Given the description of an element on the screen output the (x, y) to click on. 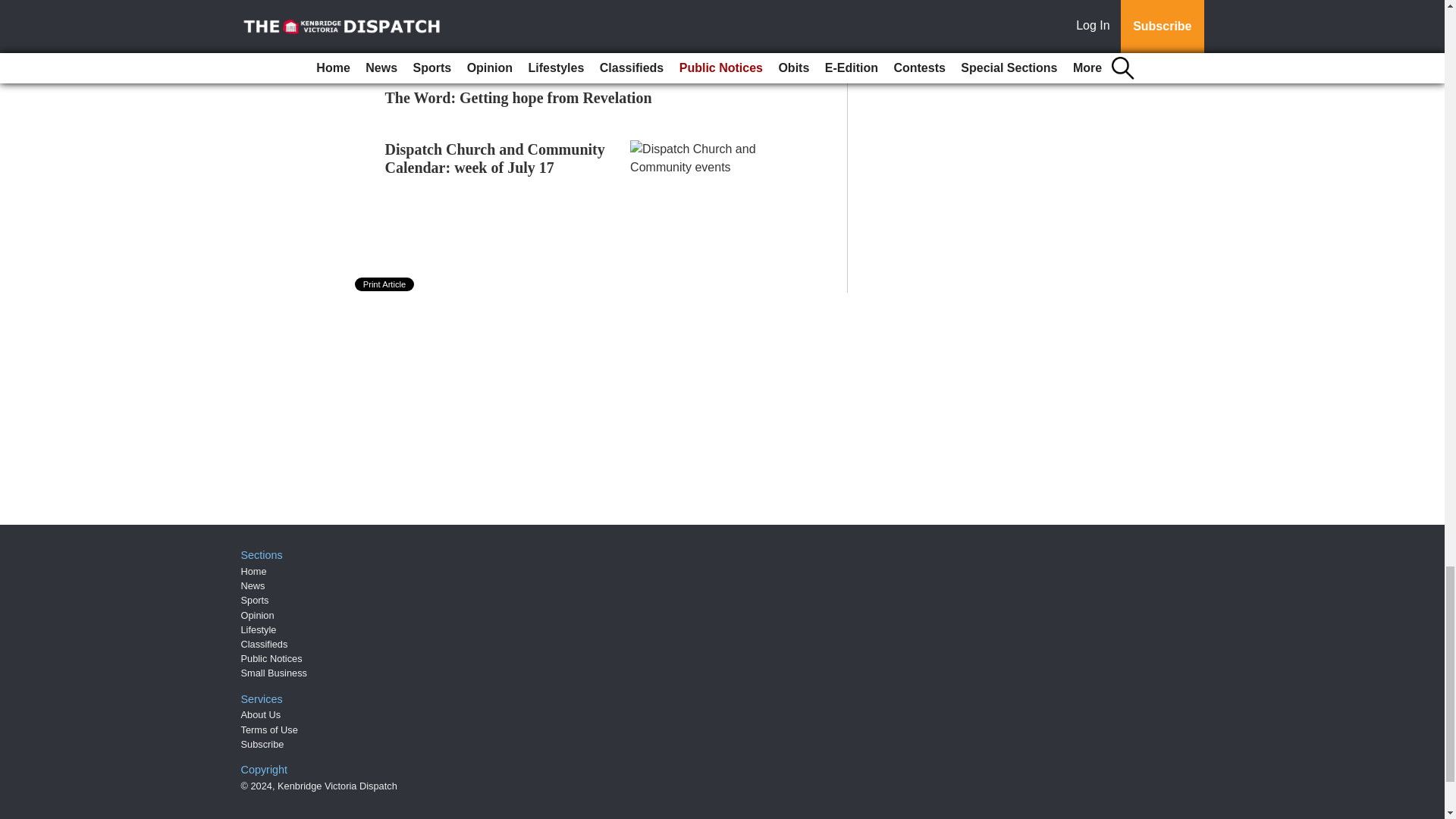
The Word: Getting hope from Revelation (518, 97)
The Word: Getting hope from Revelation (518, 97)
Dispatch Church and Community Calendar: week of July 17 (495, 158)
Print Article (384, 284)
Dispatch Church and Community Calendar: week of July 17 (495, 158)
